Given the description of an element on the screen output the (x, y) to click on. 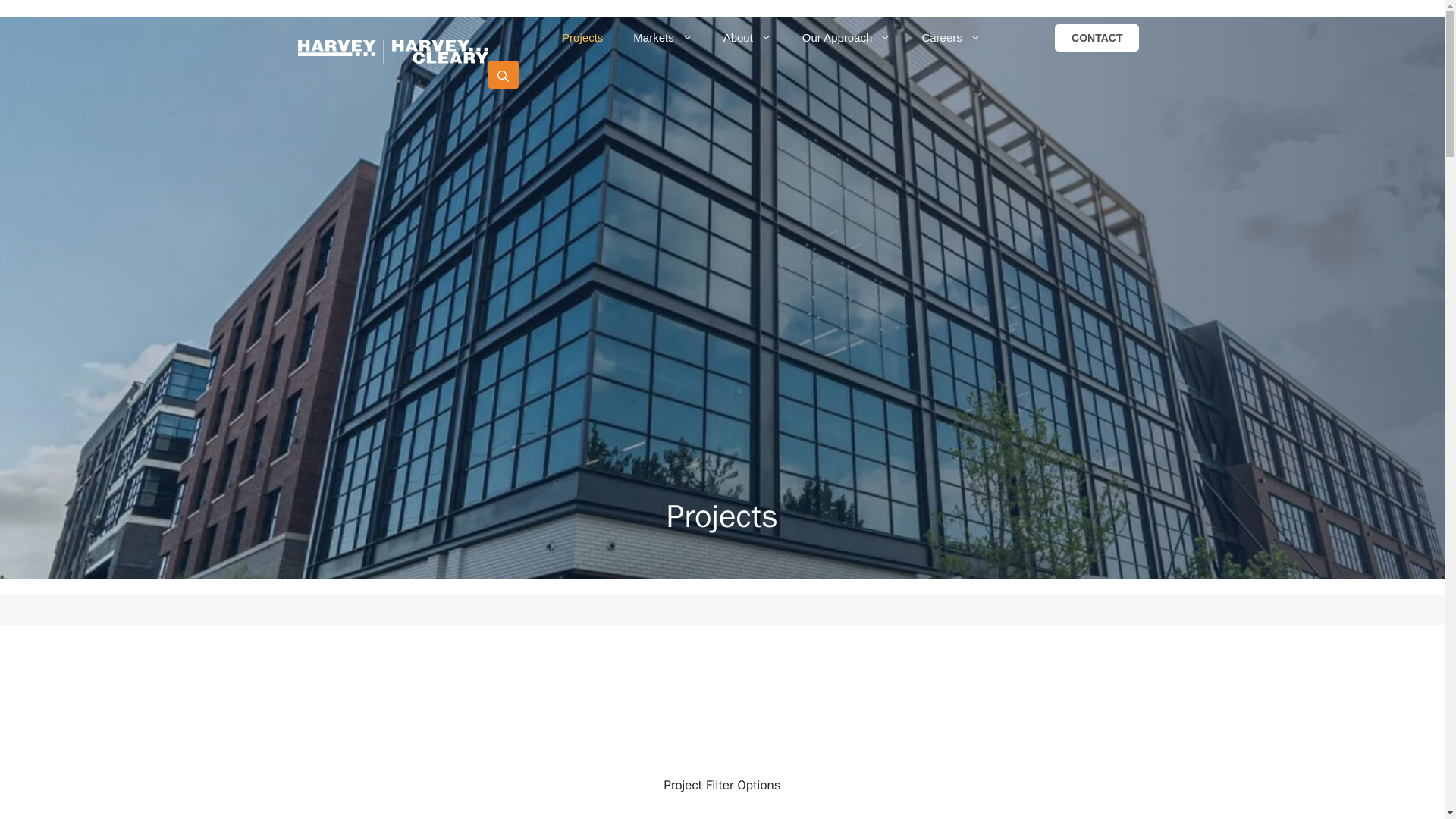
About (747, 37)
Careers (950, 37)
Markets (662, 37)
Projects (582, 37)
Our Approach (847, 37)
